Given the description of an element on the screen output the (x, y) to click on. 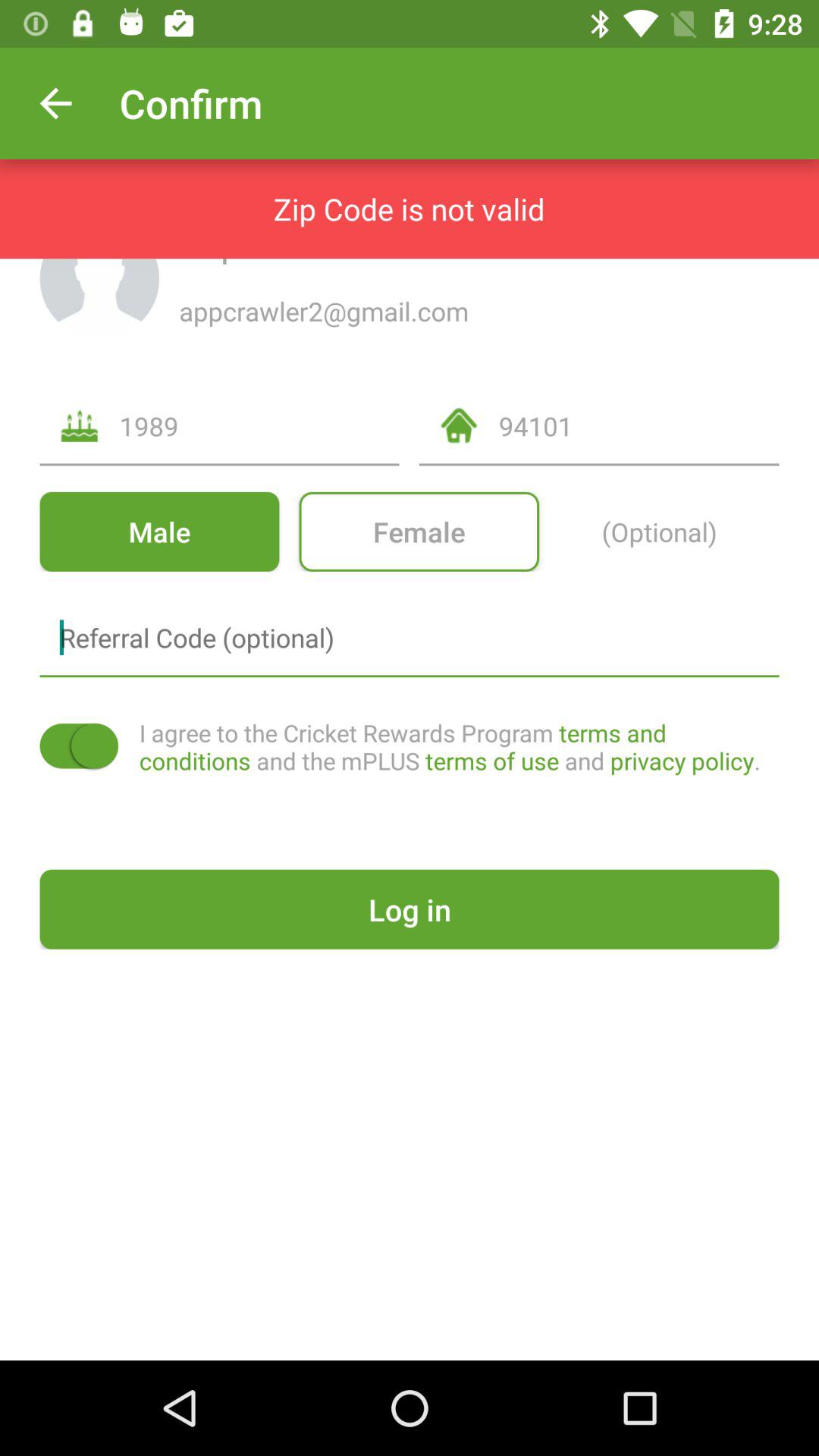
select the i agree to icon (459, 746)
